Given the description of an element on the screen output the (x, y) to click on. 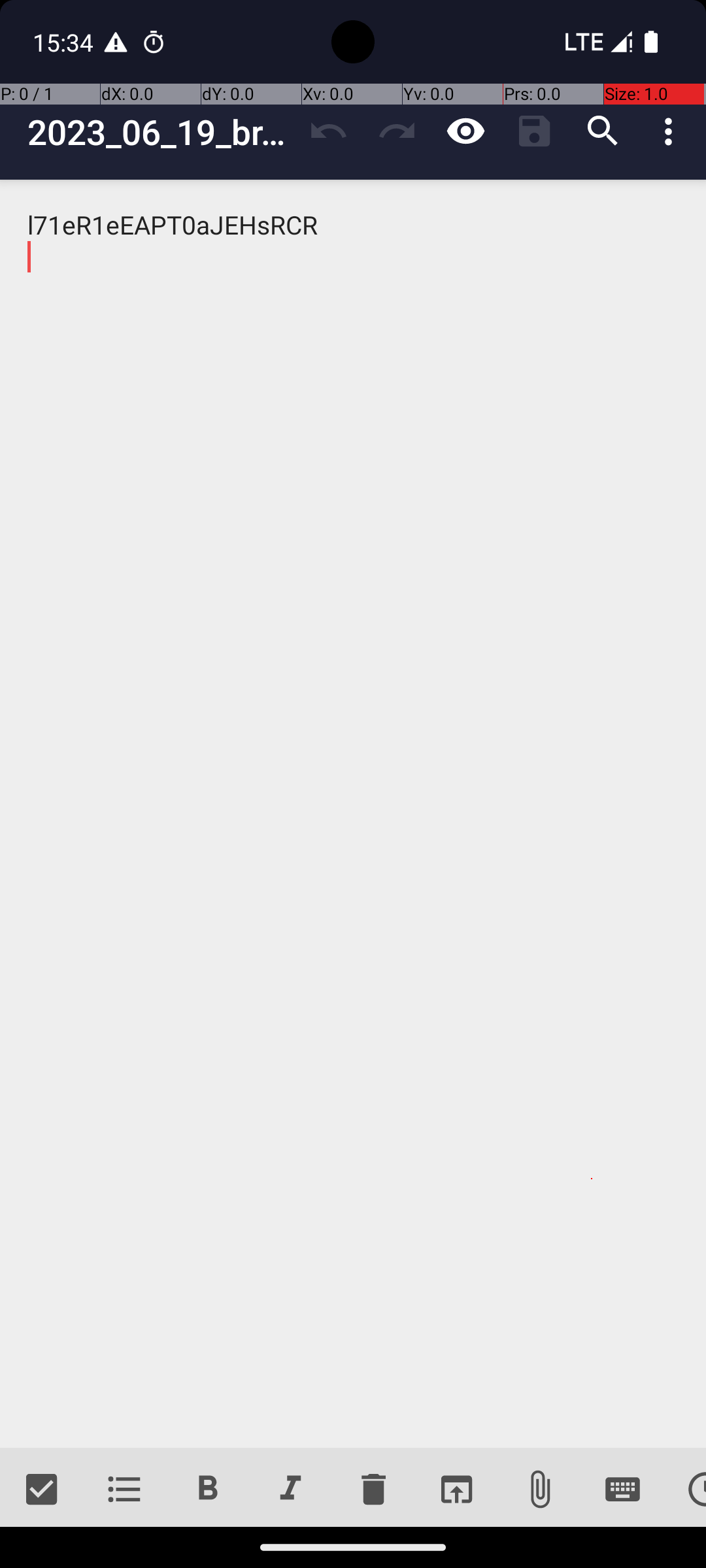
2023_06_19_brave_bear_2ipi Element type: android.widget.TextView (160, 131)
Undo Element type: android.widget.TextView (328, 131)
Redo Element type: android.widget.TextView (396, 131)
View mode Element type: android.widget.TextView (465, 131)
l71eR1eEAPT0aJEHsRCR
 Element type: android.widget.EditText (353, 813)
Check list Element type: android.widget.ImageView (41, 1488)
Unordered list Element type: android.widget.ImageView (124, 1488)
Bold Element type: android.widget.ImageView (207, 1488)
Italic Element type: android.widget.ImageView (290, 1488)
Delete lines Element type: android.widget.ImageView (373, 1488)
Open link Element type: android.widget.ImageView (456, 1488)
Attach Element type: android.widget.ImageView (539, 1488)
Special Key Element type: android.widget.ImageView (622, 1488)
Date and time Element type: android.widget.ImageView (685, 1488)
